Given the description of an element on the screen output the (x, y) to click on. 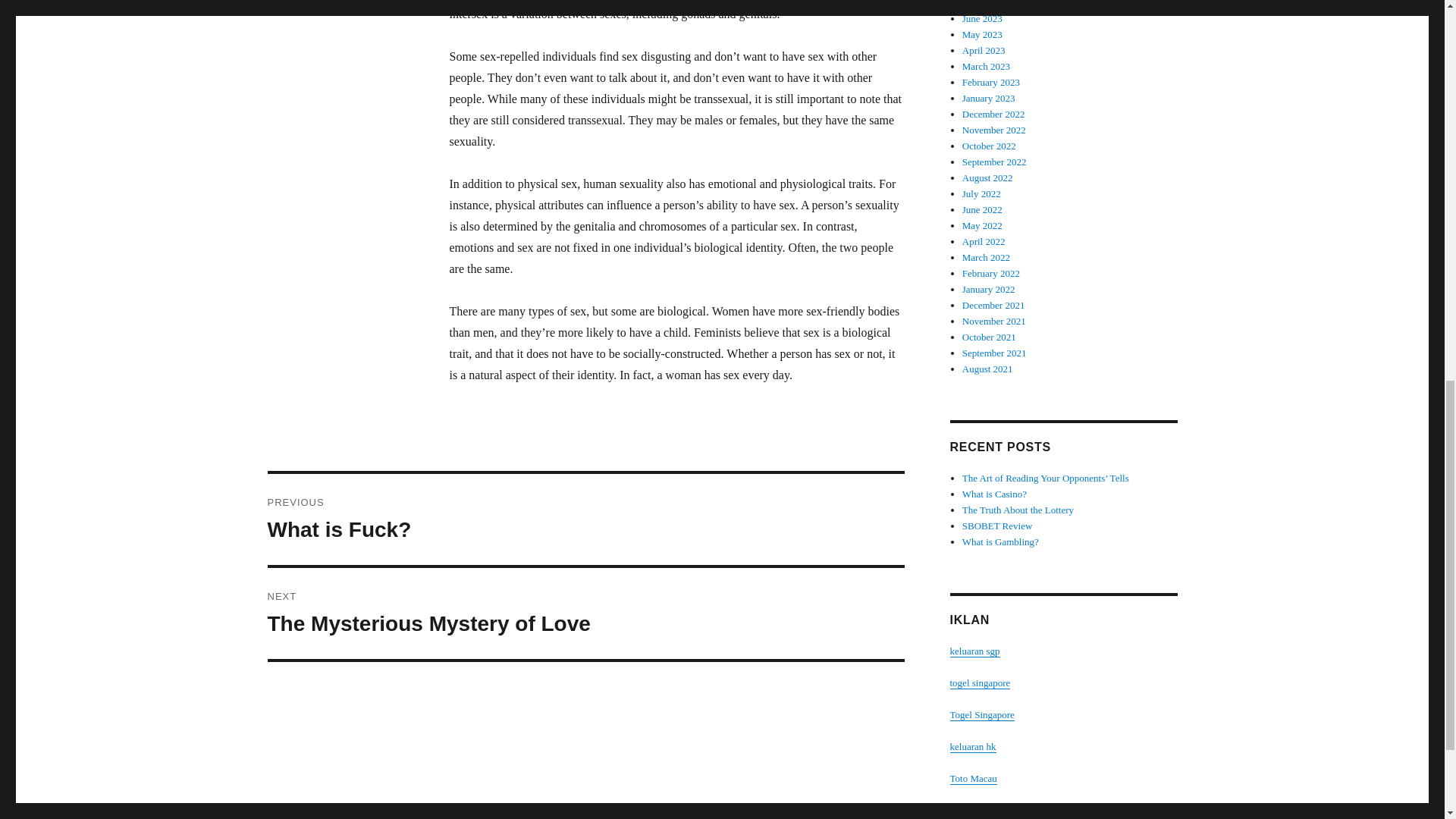
May 2023 (982, 34)
April 2023 (984, 50)
December 2022 (585, 519)
June 2022 (993, 113)
February 2023 (982, 209)
August 2022 (991, 81)
June 2023 (987, 177)
January 2023 (982, 18)
July 2022 (988, 98)
